Given the description of an element on the screen output the (x, y) to click on. 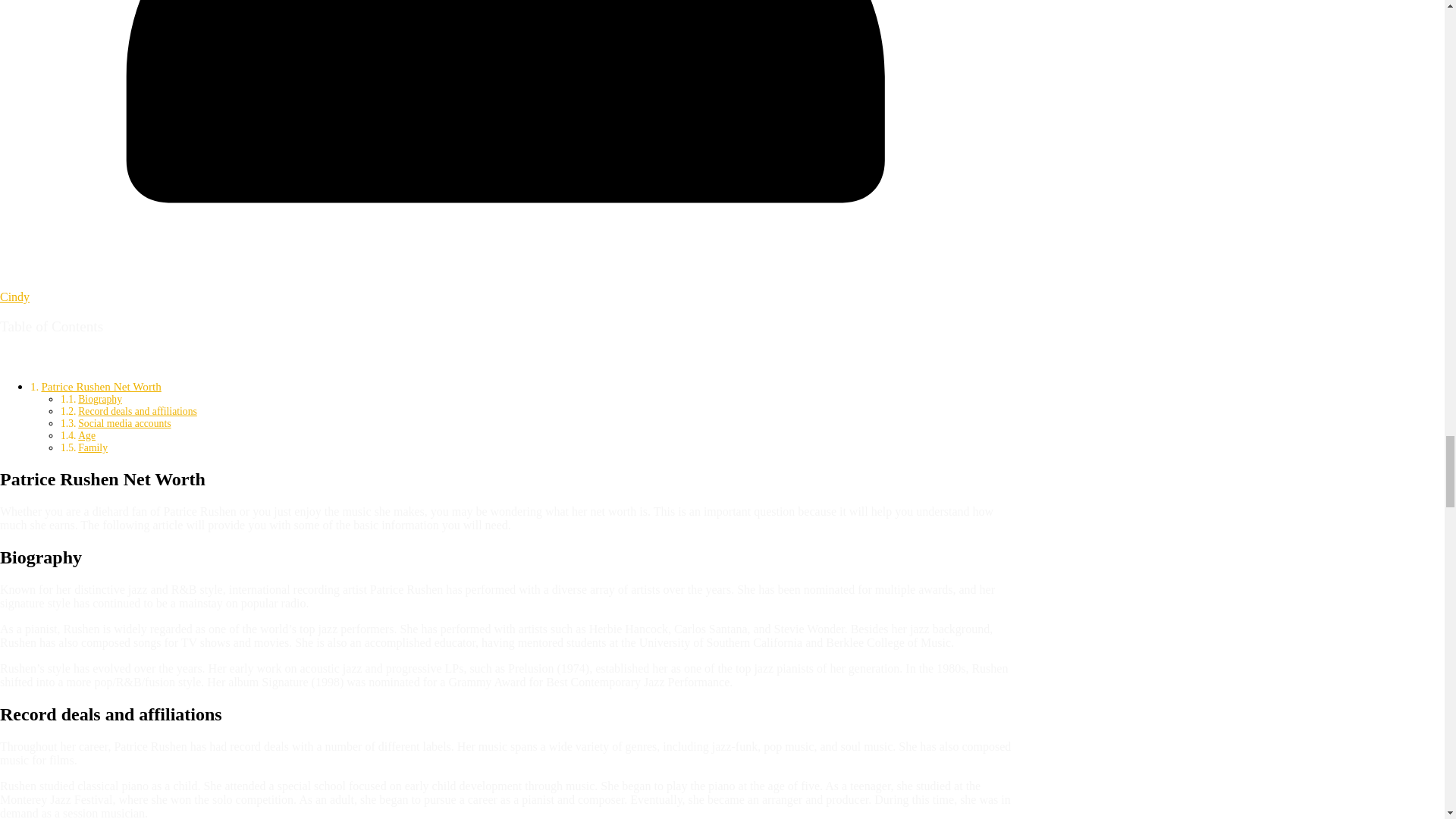
Social media accounts (124, 423)
Cindy (14, 296)
Biography (100, 398)
Family (92, 447)
Biography (100, 398)
Social media accounts (124, 423)
Patrice Rushen Net Worth (100, 386)
Record deals and affiliations (137, 410)
Age (87, 435)
Family (92, 447)
